Given the description of an element on the screen output the (x, y) to click on. 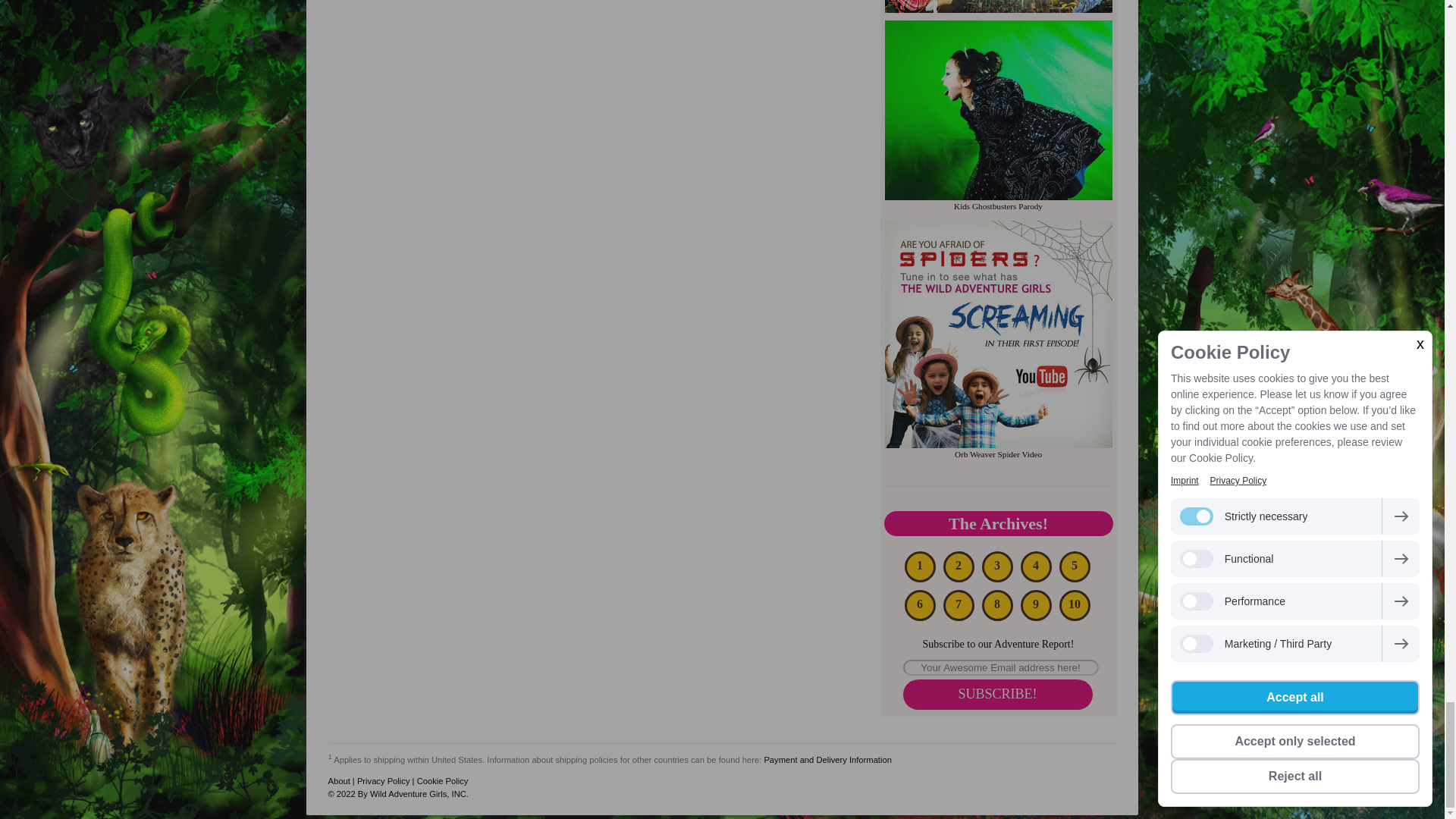
SUBSCRIBE! (997, 694)
